Given the description of an element on the screen output the (x, y) to click on. 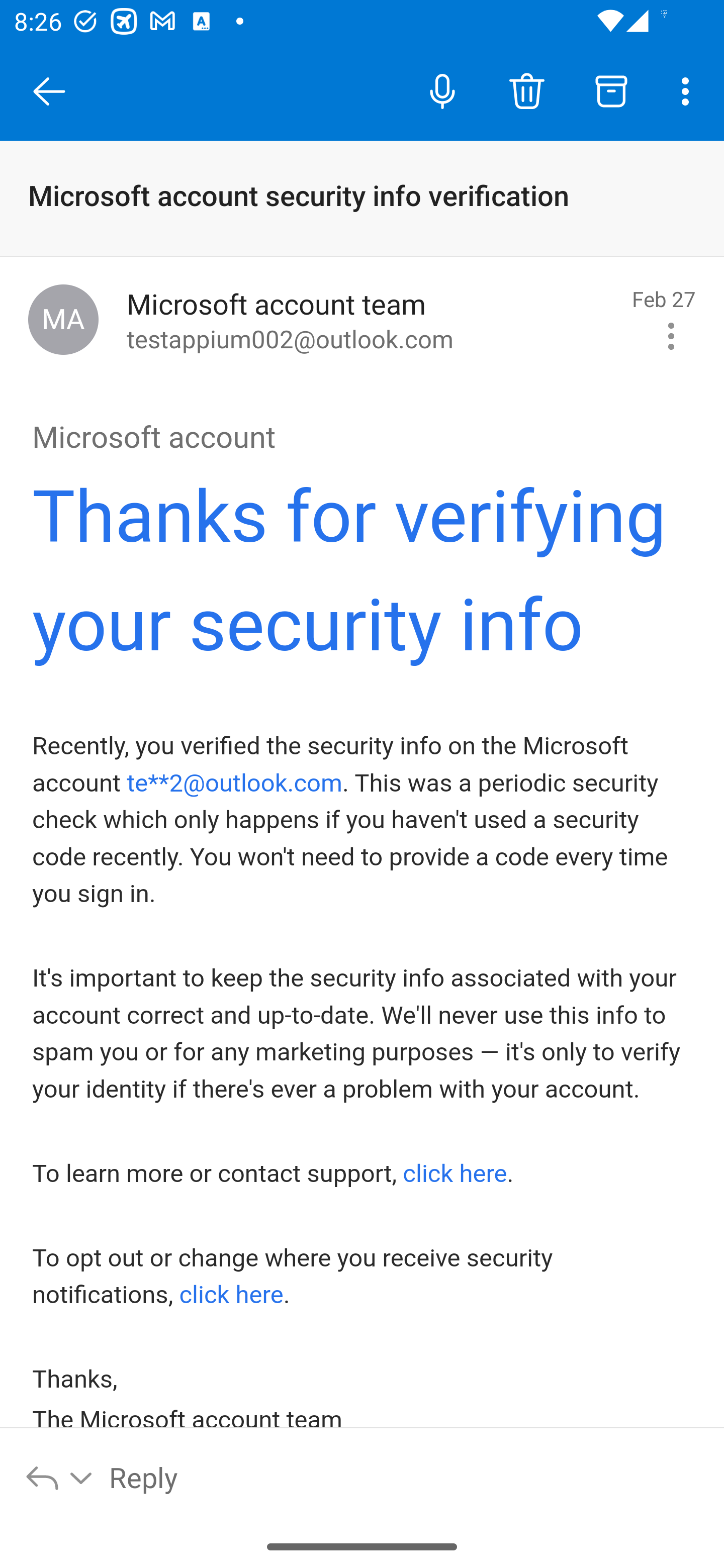
Close (49, 91)
Delete (526, 90)
Archive (611, 90)
More options (688, 90)
Message actions (671, 336)
Reply options (59, 1476)
